Given the description of an element on the screen output the (x, y) to click on. 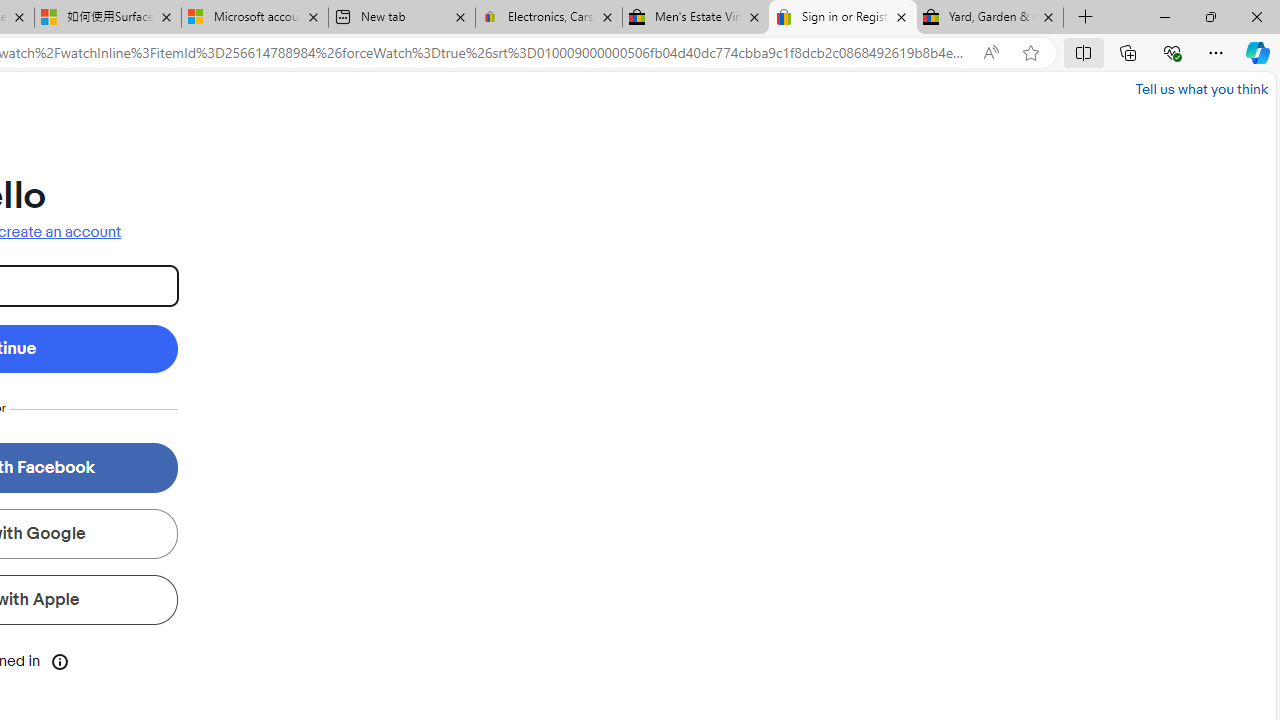
Microsoft account | Account Checkup (254, 17)
Tell us what you think - Link opens in a new window (1201, 88)
Electronics, Cars, Fashion, Collectibles & More | eBay (549, 17)
